Given the description of an element on the screen output the (x, y) to click on. 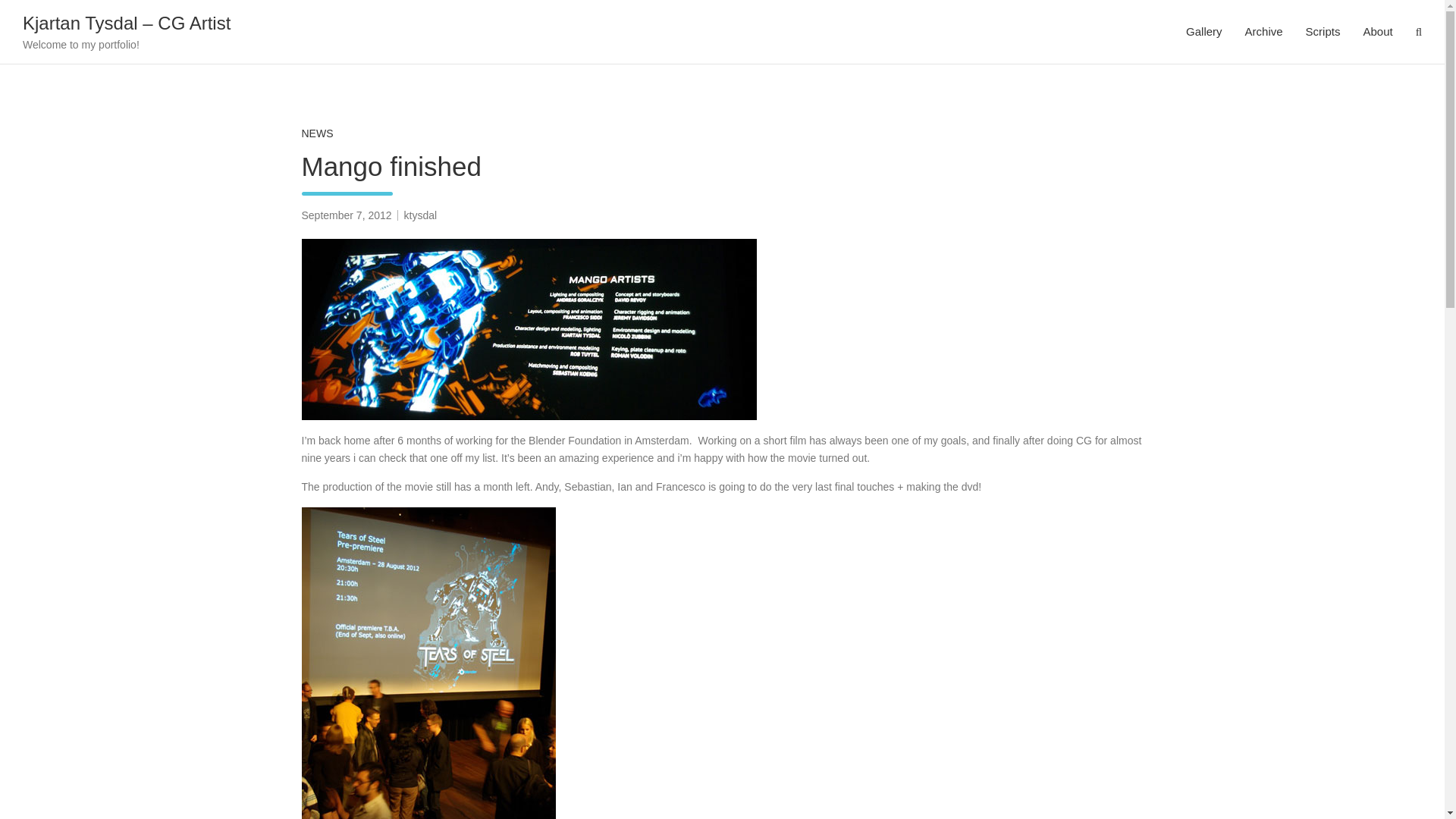
September 7, 2012 (346, 215)
Mango Pre-Premiere (529, 329)
NEWS (317, 133)
Scripts (1323, 31)
Gallery (1203, 31)
ktysdal (421, 215)
Archive (1263, 31)
Mango finished (346, 215)
